Given the description of an element on the screen output the (x, y) to click on. 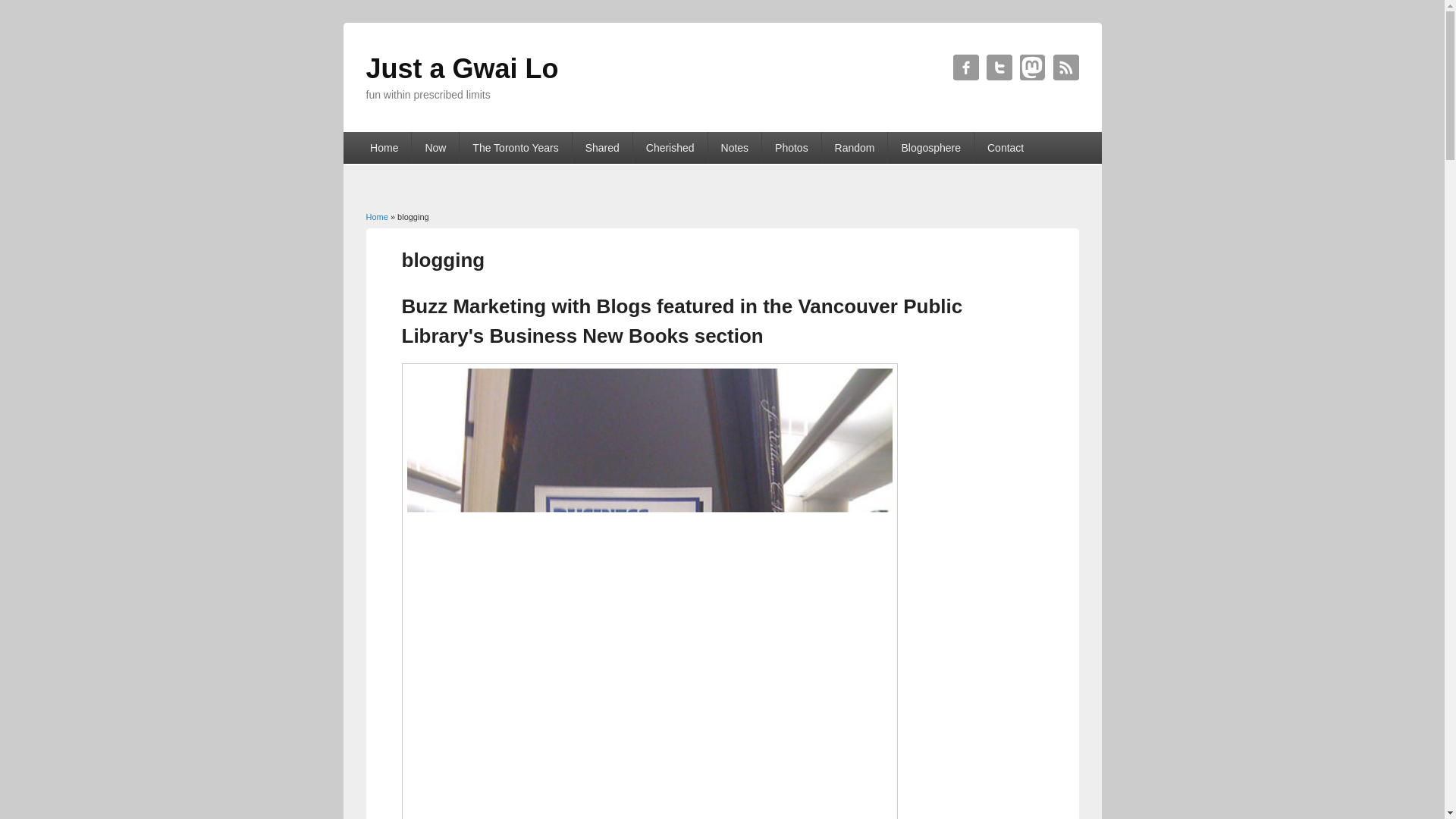
Just a Gwai Lo Mastodon (1032, 67)
Syndicated from my Flickr account (791, 147)
Just a Gwai Lo in Facebook (965, 67)
Contact (1005, 147)
Implementation is golden. (734, 147)
Photos (791, 147)
Blogosphere (931, 147)
Home (376, 216)
My favourite articles (670, 147)
What I'm up to these days. (435, 147)
Shared (601, 147)
Random (855, 147)
Home (383, 147)
Just a Gwai Lo in RSS (1065, 67)
Just a Gwai Lo RSS (1065, 67)
